Given the description of an element on the screen output the (x, y) to click on. 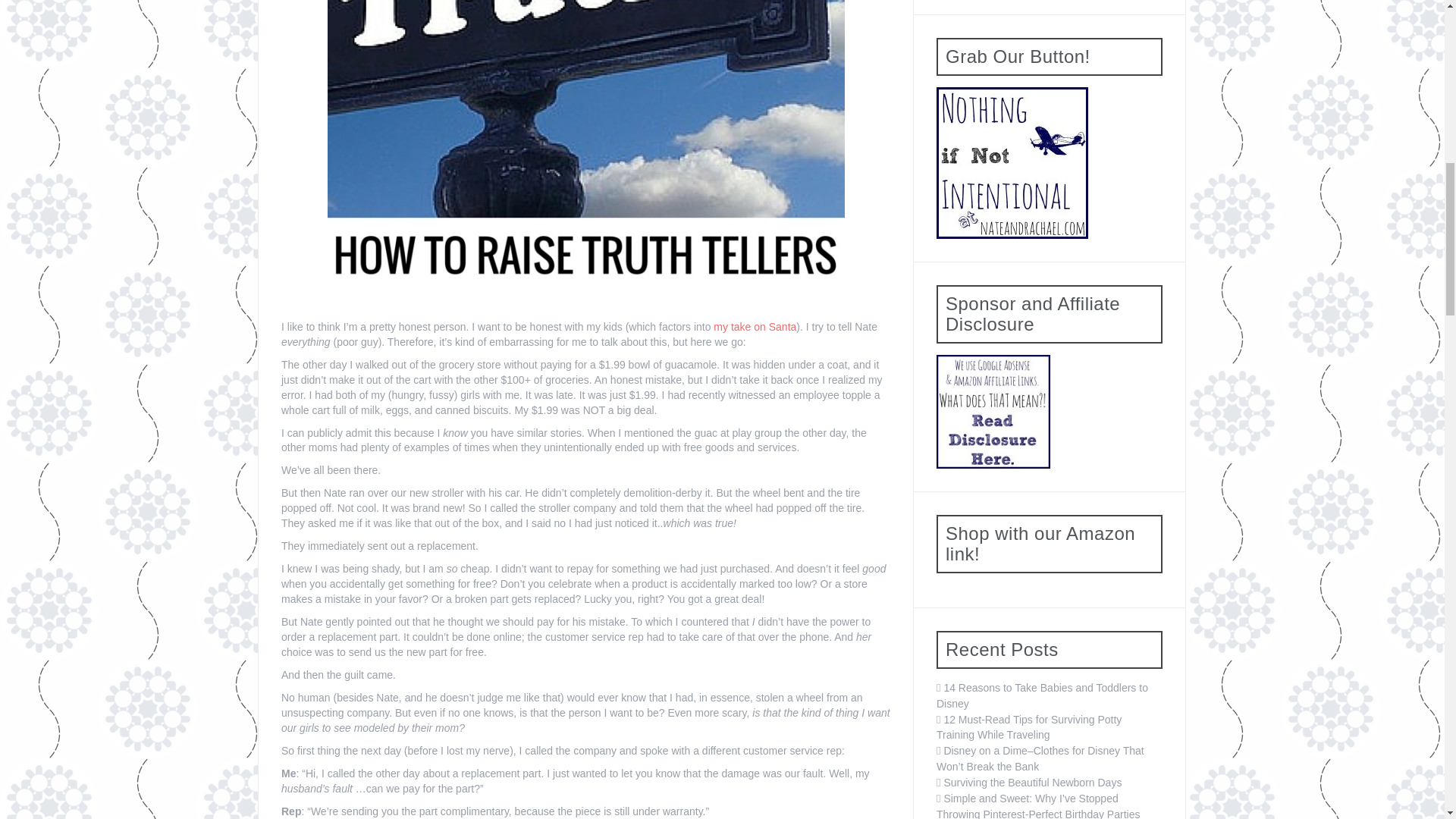
To Believe or Not to Believe in Santa Claus? (753, 326)
my take on Santa (753, 326)
